Given the description of an element on the screen output the (x, y) to click on. 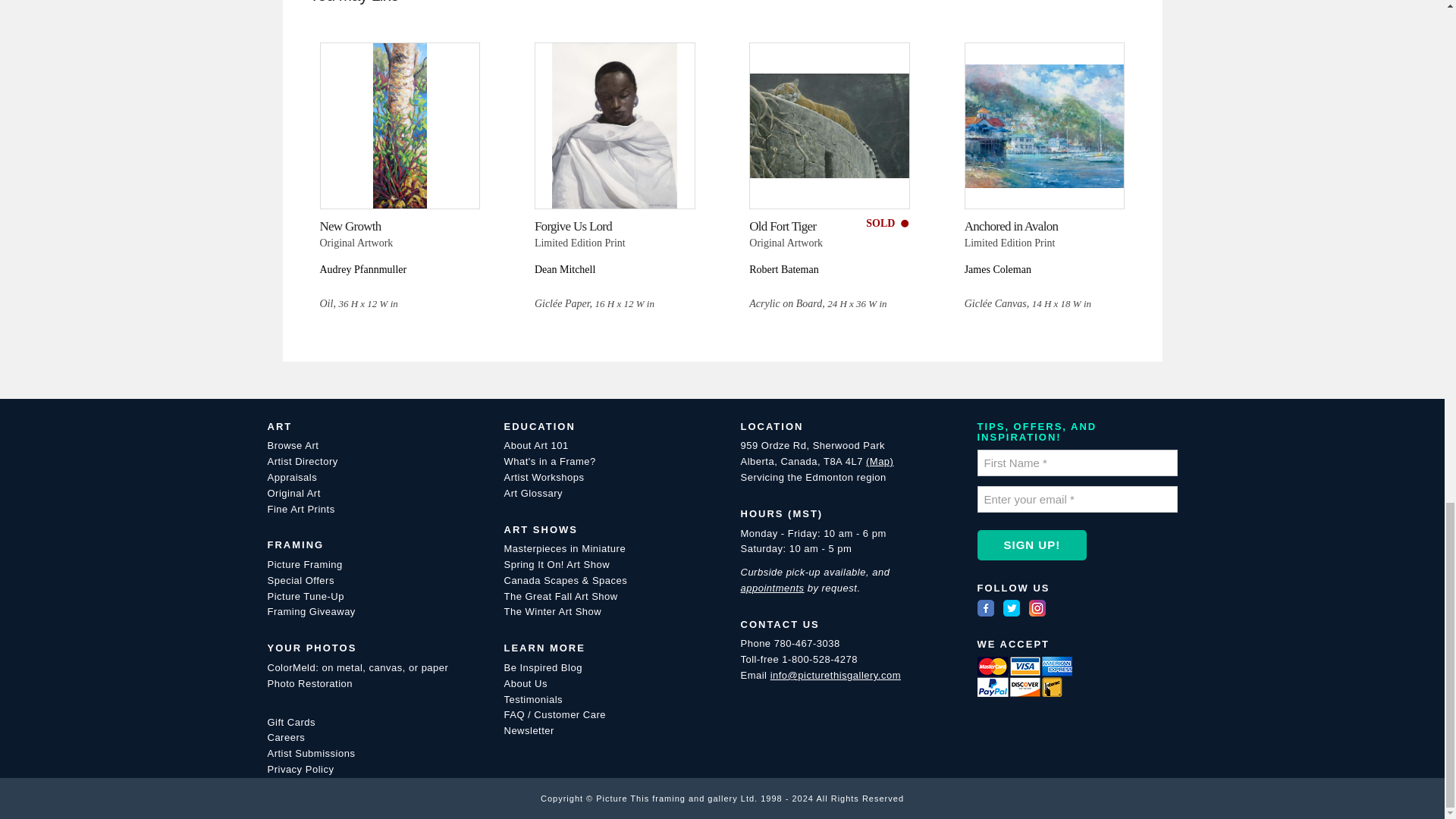
Map (879, 460)
